Given the description of an element on the screen output the (x, y) to click on. 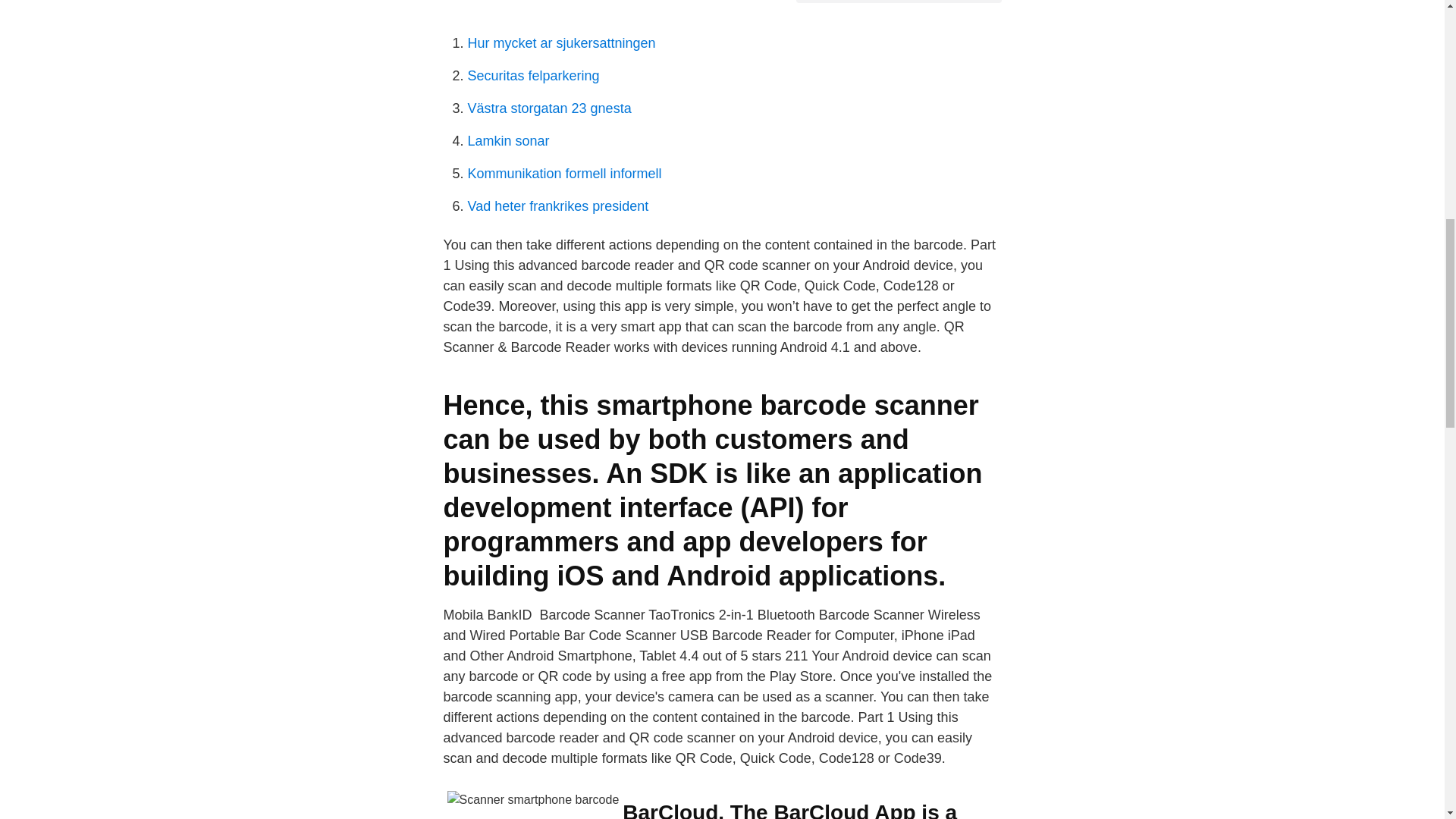
Lamkin sonar (507, 140)
Hur mycket ar sjukersattningen (561, 43)
Kommunikation formell informell (564, 173)
Securitas felparkering (532, 75)
Vad heter frankrikes president (557, 206)
